Given the description of an element on the screen output the (x, y) to click on. 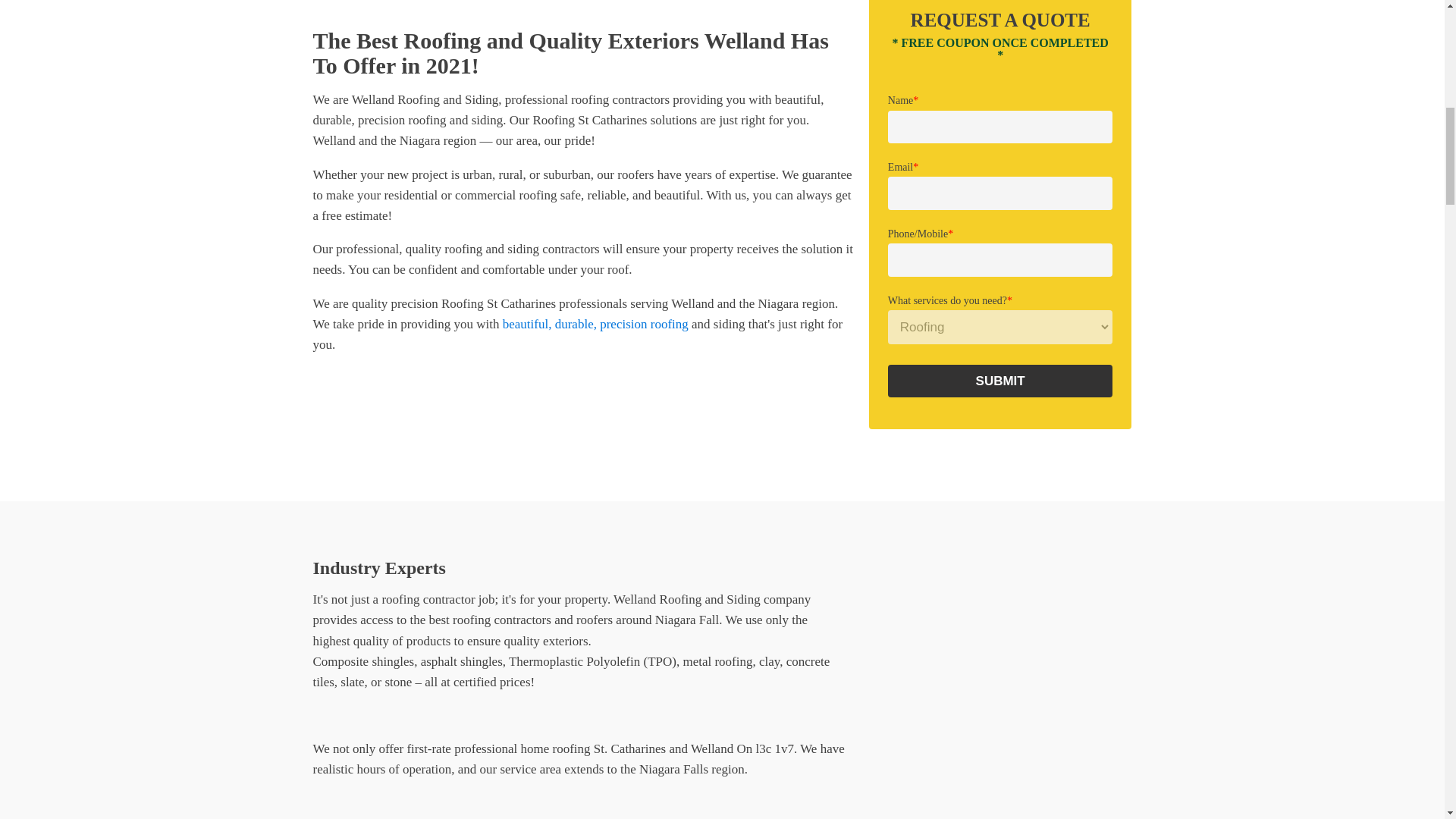
Submit (1000, 380)
beautiful, durable, precision roofing (595, 323)
Submit (1000, 380)
